Given the description of an element on the screen output the (x, y) to click on. 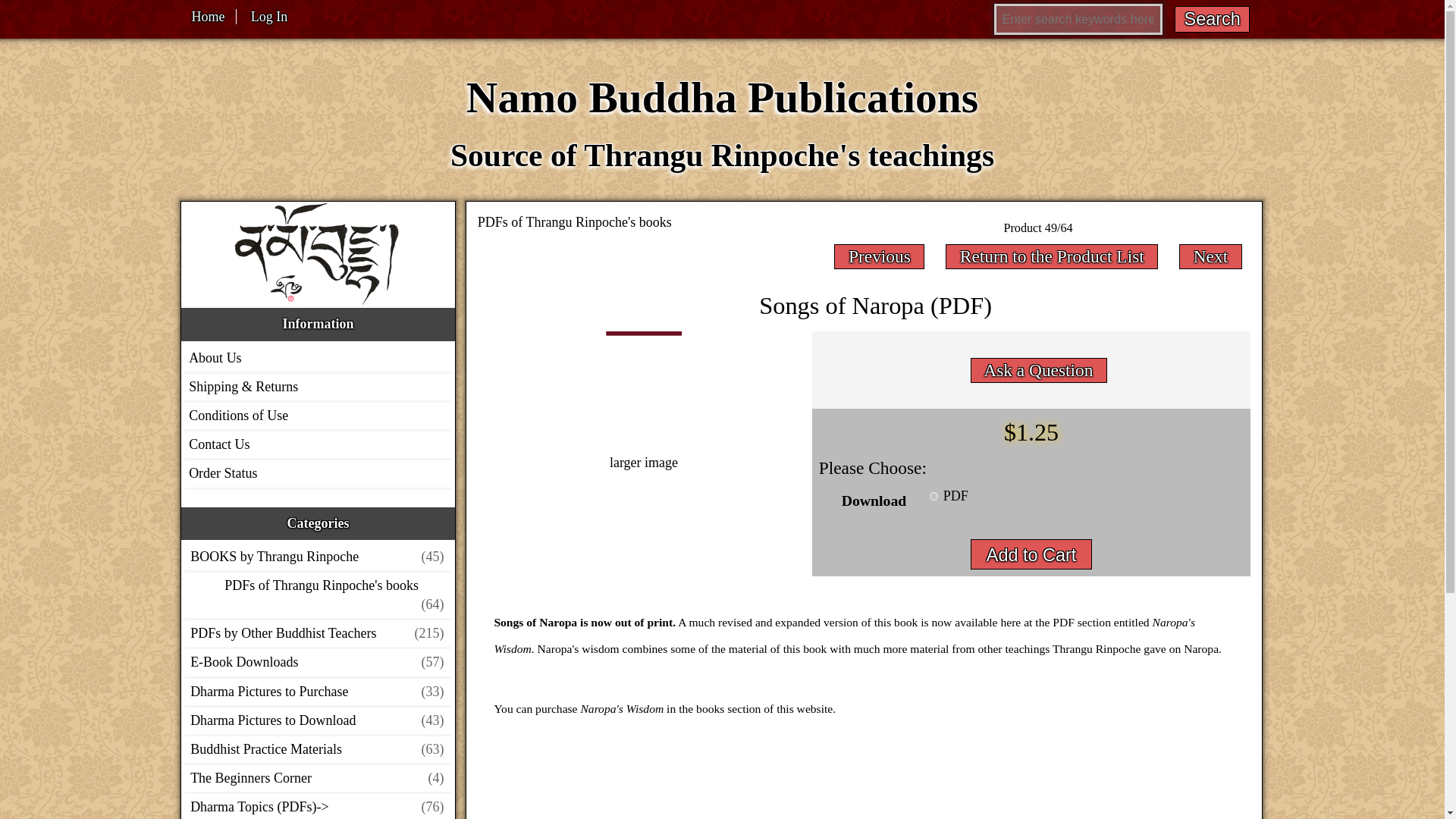
Add to Cart (1031, 553)
1 (933, 496)
 Next  (1210, 255)
About Us (215, 357)
Home (207, 16)
 Ask a Question  (1037, 368)
Search (1212, 18)
Conditions of Use (238, 415)
Order Status (222, 473)
larger image (643, 452)
Contact Us (218, 444)
Search (1212, 18)
Log In (269, 16)
 Return to the Product List  (1052, 255)
Search (1212, 18)
